Given the description of an element on the screen output the (x, y) to click on. 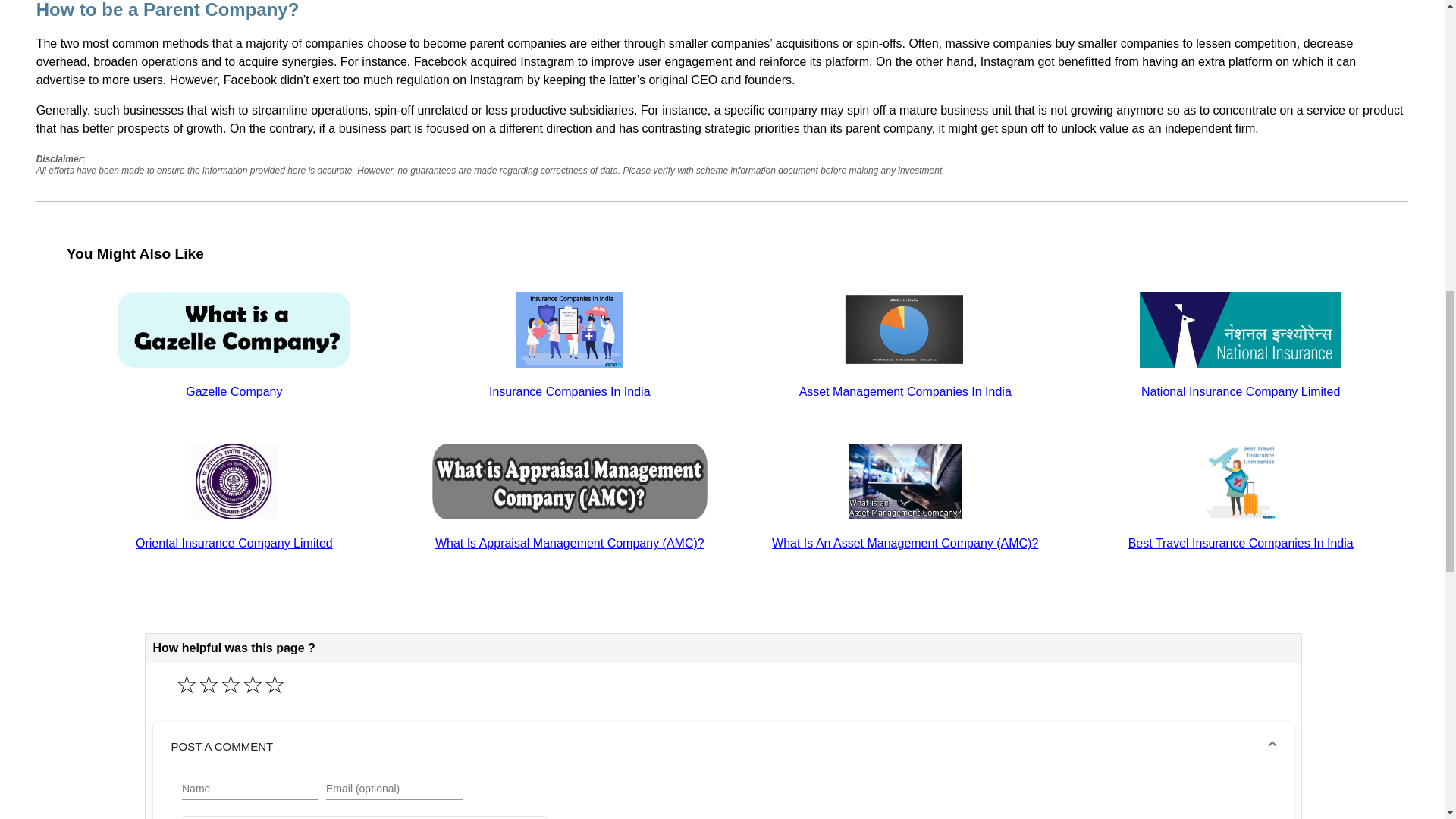
Gazelle Company (234, 391)
Best Travel Insurance Companies in India (1240, 481)
Oriental Insurance Company Limited (233, 481)
Insurance Companies in India (569, 329)
Gazelle Company (233, 329)
National Insurance Company Limited (1240, 391)
Asset Management Companies in India (904, 329)
Oriental Insurance Company Limited (234, 543)
National Insurance Company Limited (1240, 329)
Asset Management Companies In India (905, 391)
Insurance Companies In India (569, 391)
Best Travel Insurance Companies In India (1241, 543)
